Given the description of an element on the screen output the (x, y) to click on. 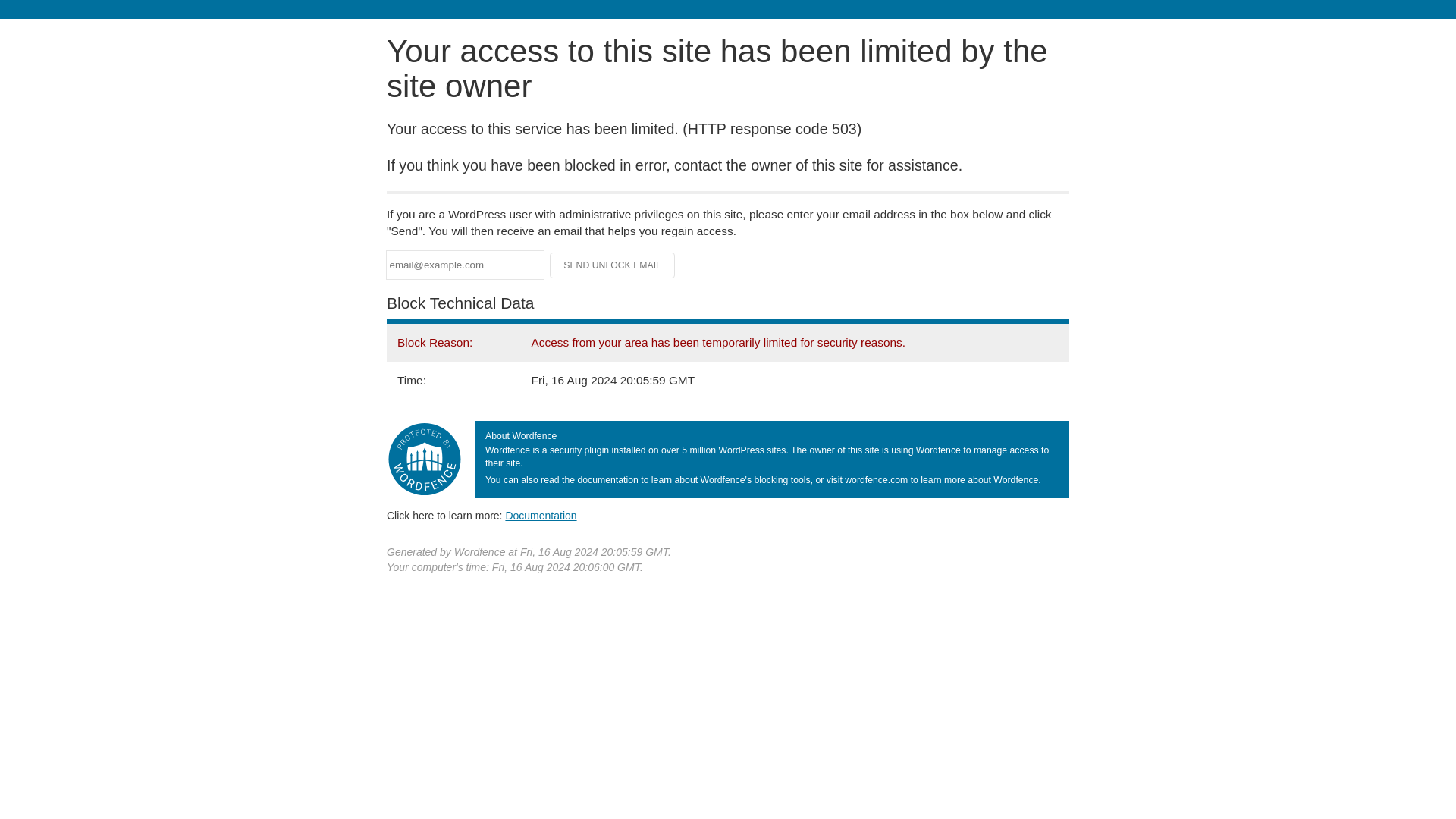
Documentation (540, 515)
Send Unlock Email (612, 265)
Send Unlock Email (612, 265)
